Given the description of an element on the screen output the (x, y) to click on. 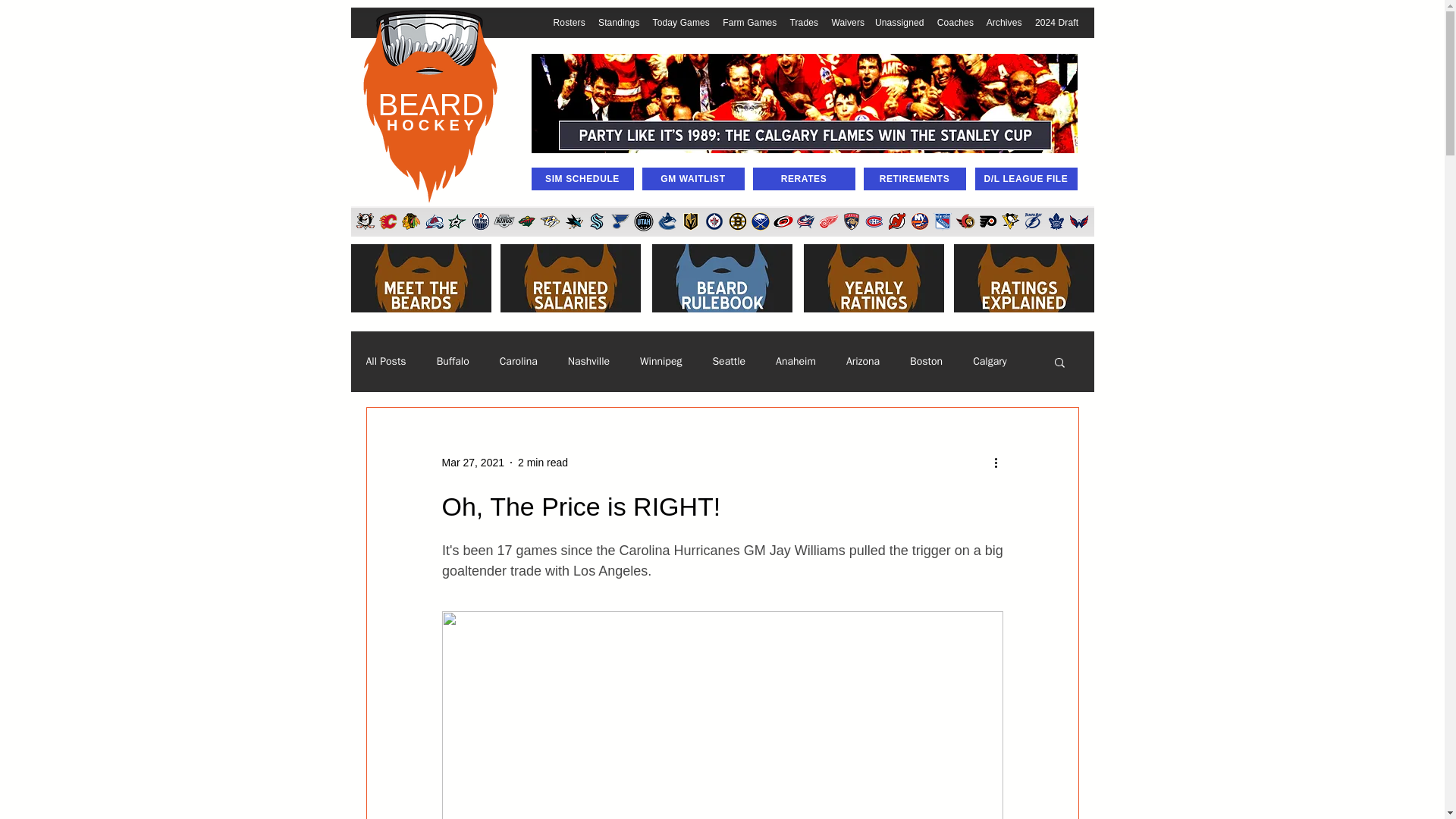
Waivers (847, 22)
Coaches (955, 22)
Unassigned (899, 22)
2024 Draft (1056, 22)
GM WAITLIST (693, 178)
Standings (618, 22)
Mar 27, 2021 (472, 462)
RERATES (803, 178)
Archives (1004, 22)
H O C K E Y (430, 125)
BEARD (431, 104)
Farm Games (749, 22)
RETIREMENTS (914, 178)
Trades (803, 22)
2 min read (542, 462)
